Given the description of an element on the screen output the (x, y) to click on. 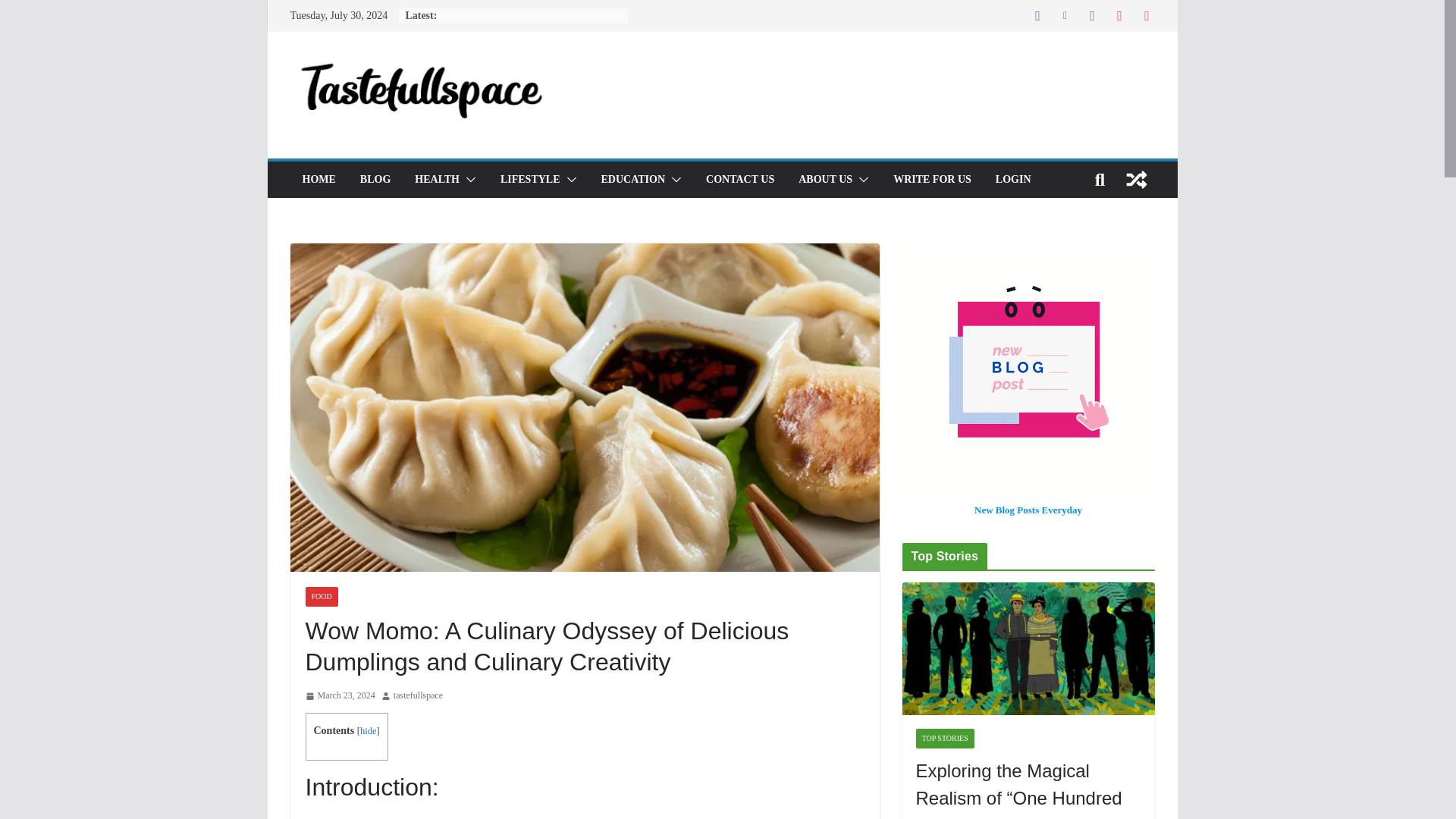
11:47 am (339, 695)
EDUCATION (633, 179)
HEALTH (437, 179)
View a random post (1136, 179)
WRITE FOR US (932, 179)
March 23, 2024 (339, 695)
LOGIN (1012, 179)
CONTACT US (740, 179)
tastefullspace (417, 695)
tastefullspace (417, 695)
BLOG (374, 179)
hide (368, 730)
HOME (317, 179)
ABOUT US (824, 179)
